Given the description of an element on the screen output the (x, y) to click on. 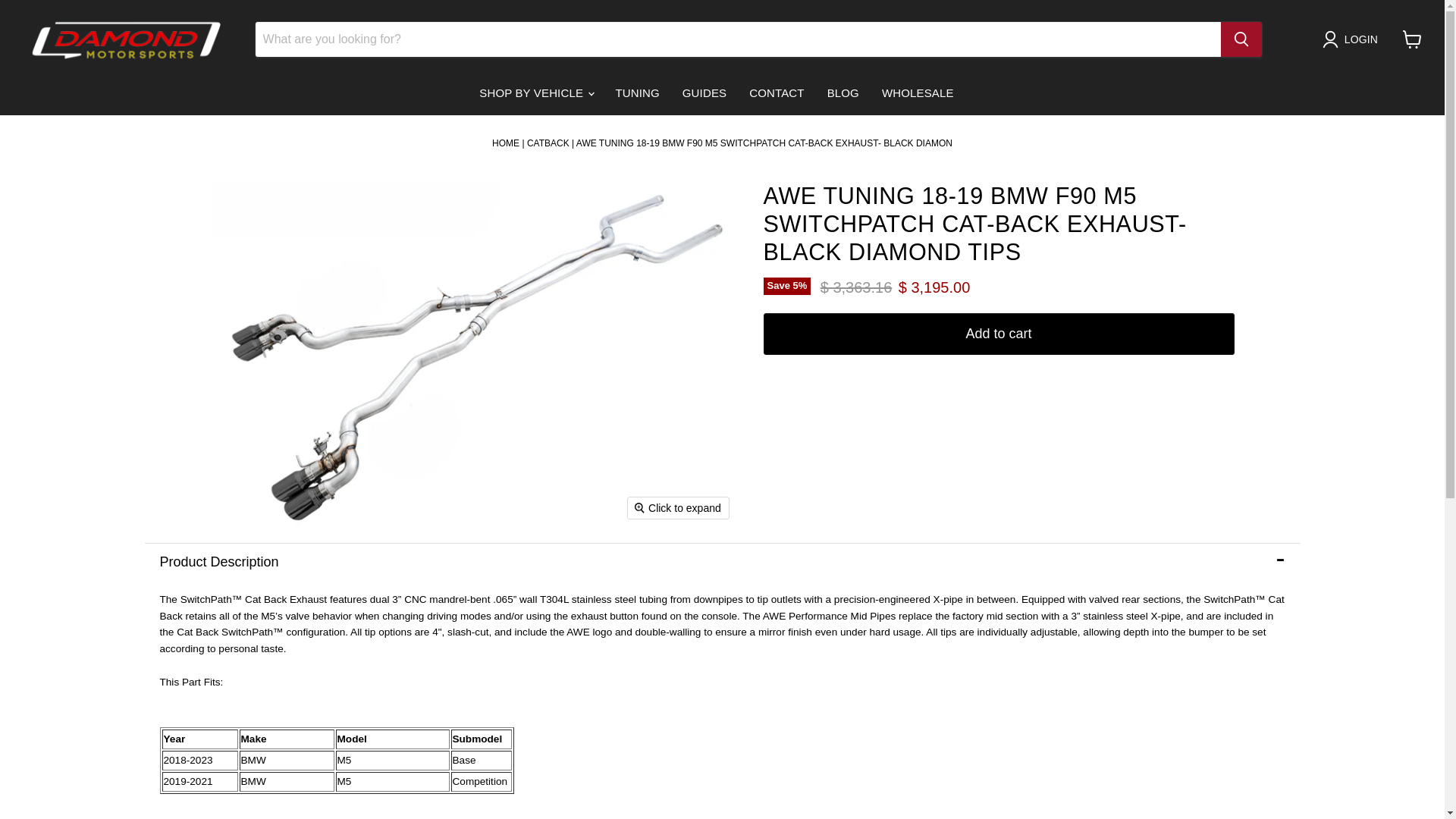
Catback (548, 143)
CONTACT (776, 92)
WHOLESALE (917, 92)
Home (505, 143)
LOGIN (1353, 39)
View cart (1411, 39)
BLOG (842, 92)
TUNING (636, 92)
GUIDES (704, 92)
